Given the description of an element on the screen output the (x, y) to click on. 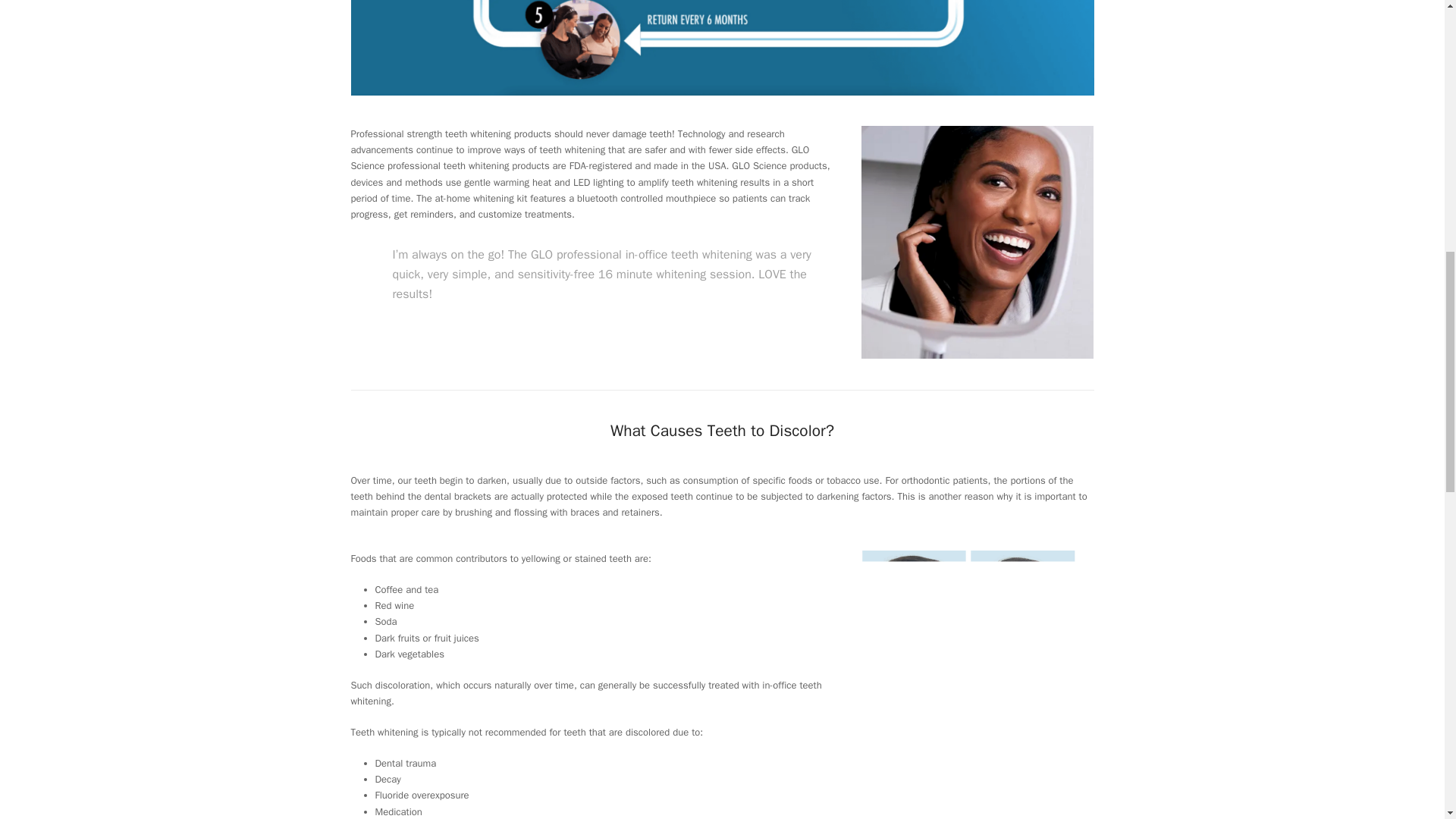
GLO-whitening-process (721, 47)
Glo-InOffice-Whitening (977, 242)
GLO-before-after-patient1 (977, 667)
